Given the description of an element on the screen output the (x, y) to click on. 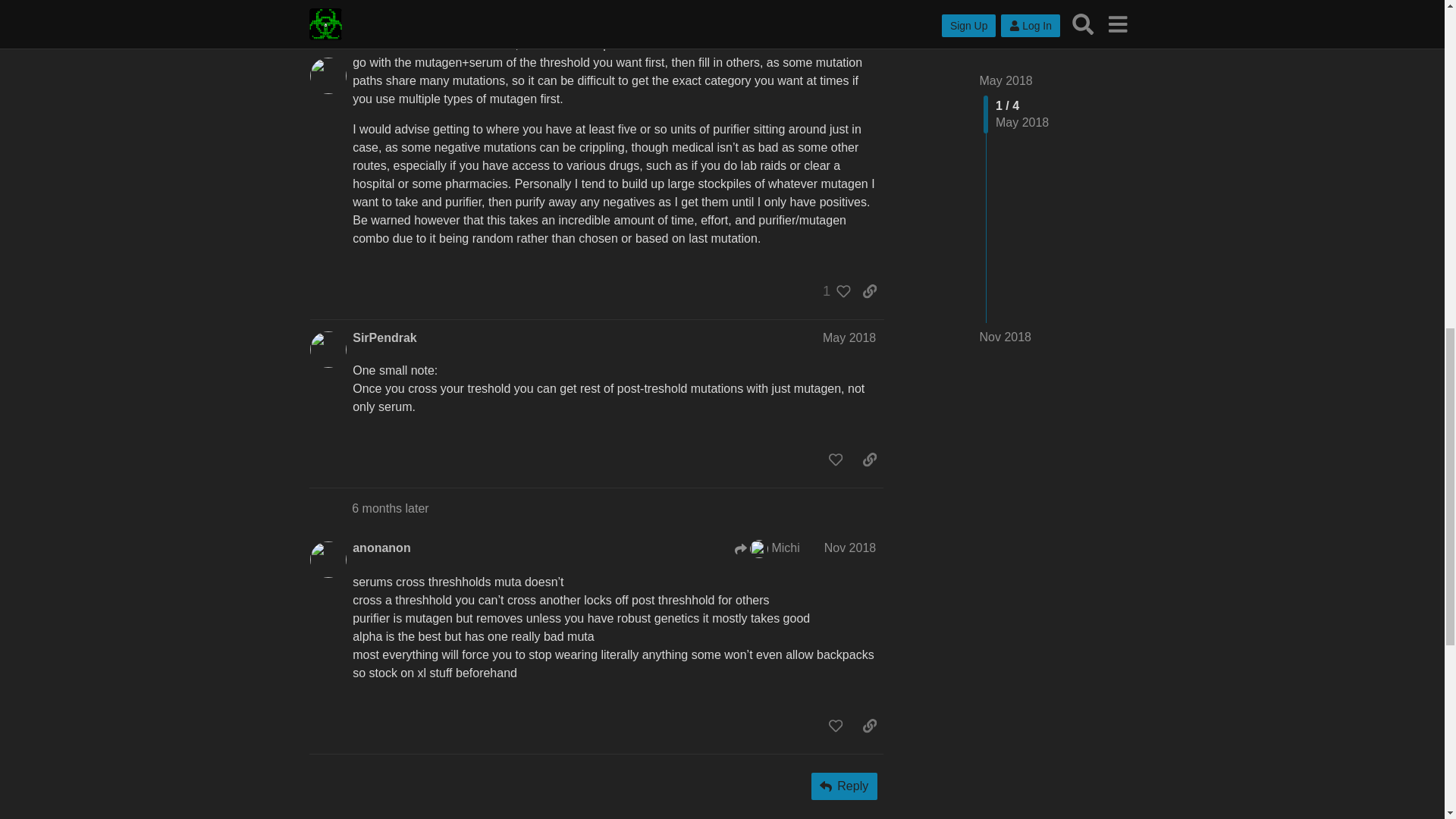
SirPendrak (384, 338)
Post date (849, 337)
May 2018 (849, 337)
Michi (767, 548)
Reply (843, 786)
1 (832, 290)
copy a link to this post to clipboard (869, 290)
1 person liked this post (832, 290)
anonanon (381, 547)
Nov 2018 (850, 547)
